Given the description of an element on the screen output the (x, y) to click on. 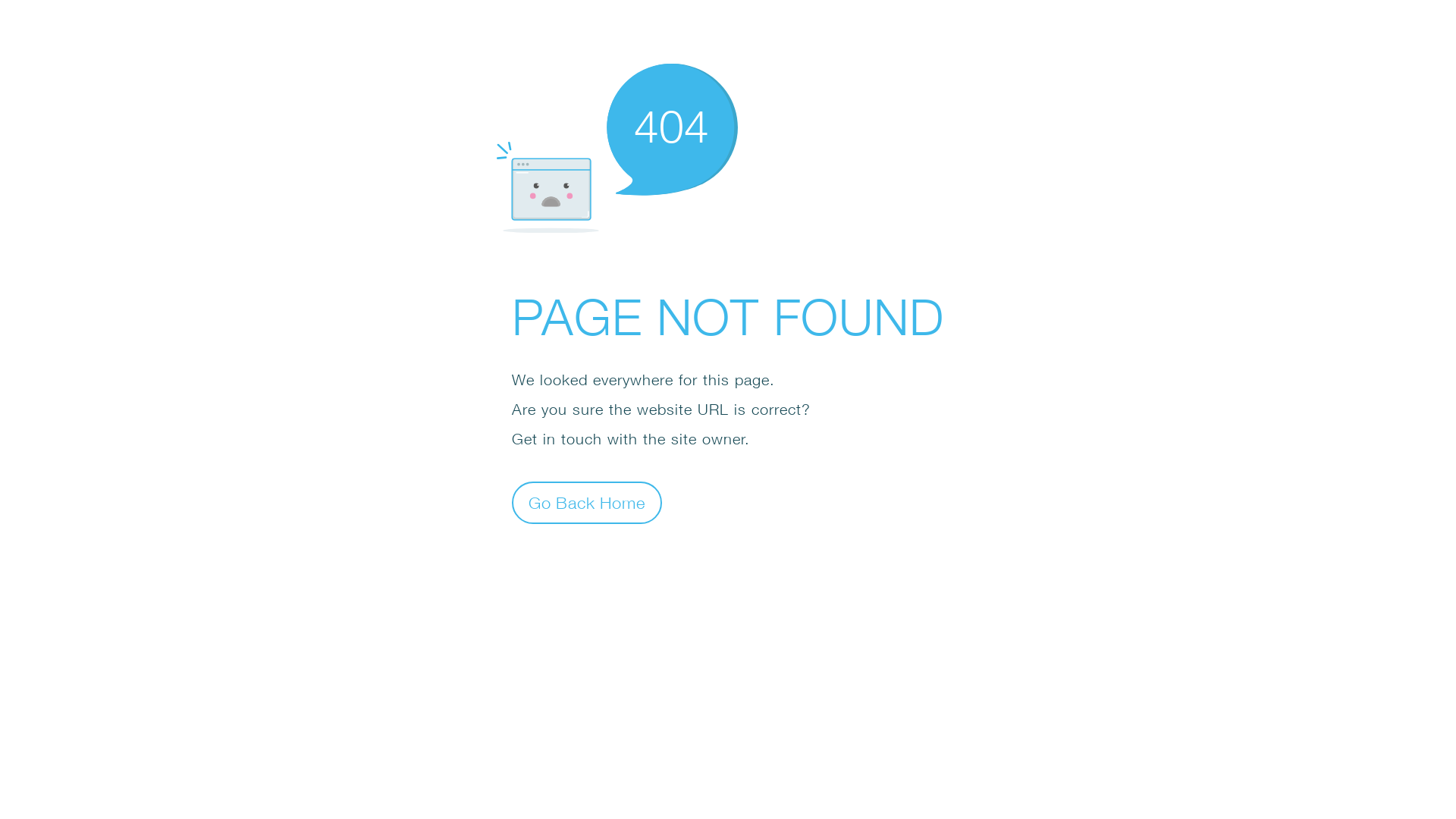
Go Back Home Element type: text (586, 502)
